Given the description of an element on the screen output the (x, y) to click on. 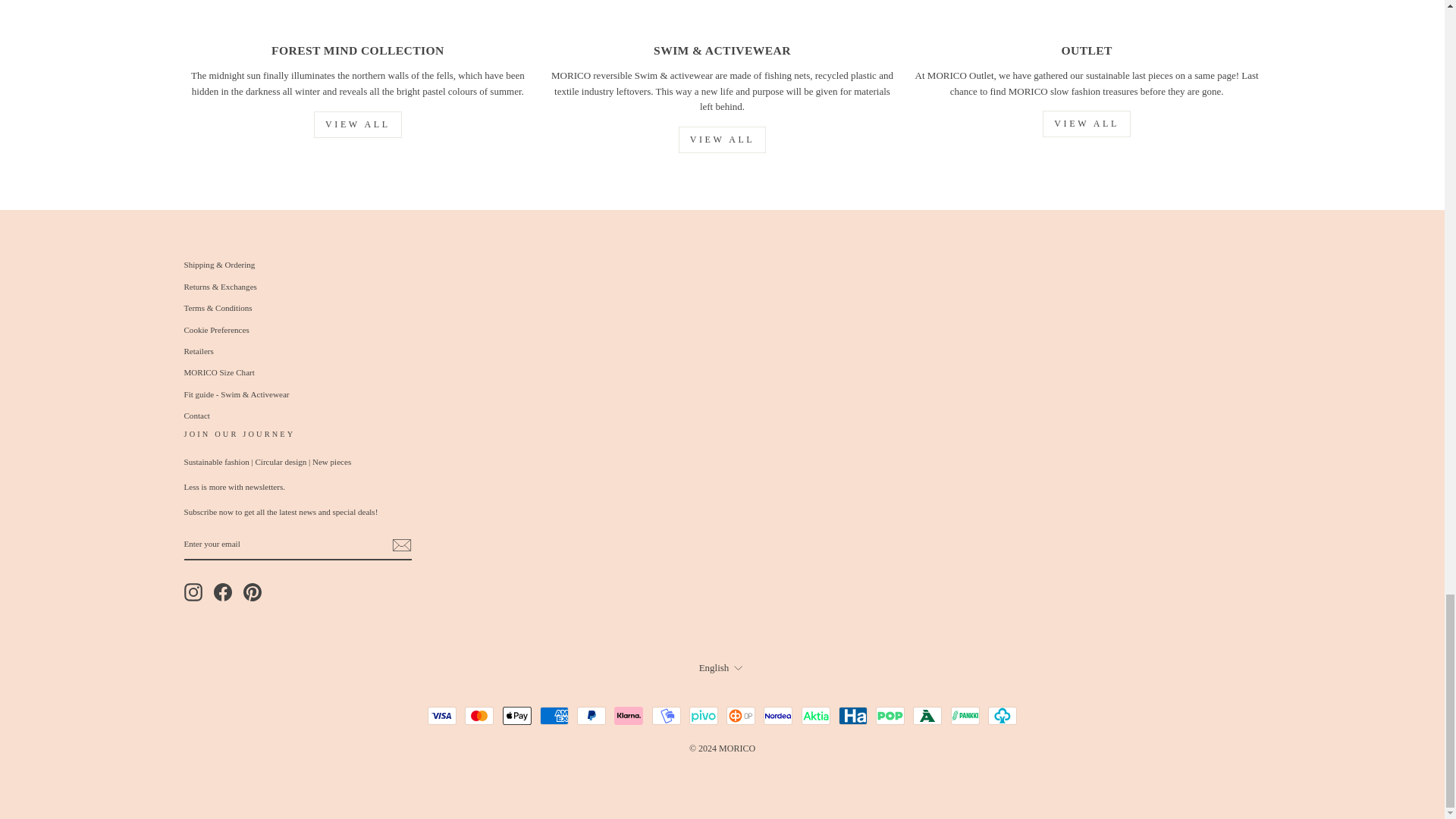
Visa (442, 715)
MORICO on Facebook (222, 592)
MORICO on Instagram (192, 592)
MORICO on Pinterest (251, 592)
Mastercard (478, 715)
